Given the description of an element on the screen output the (x, y) to click on. 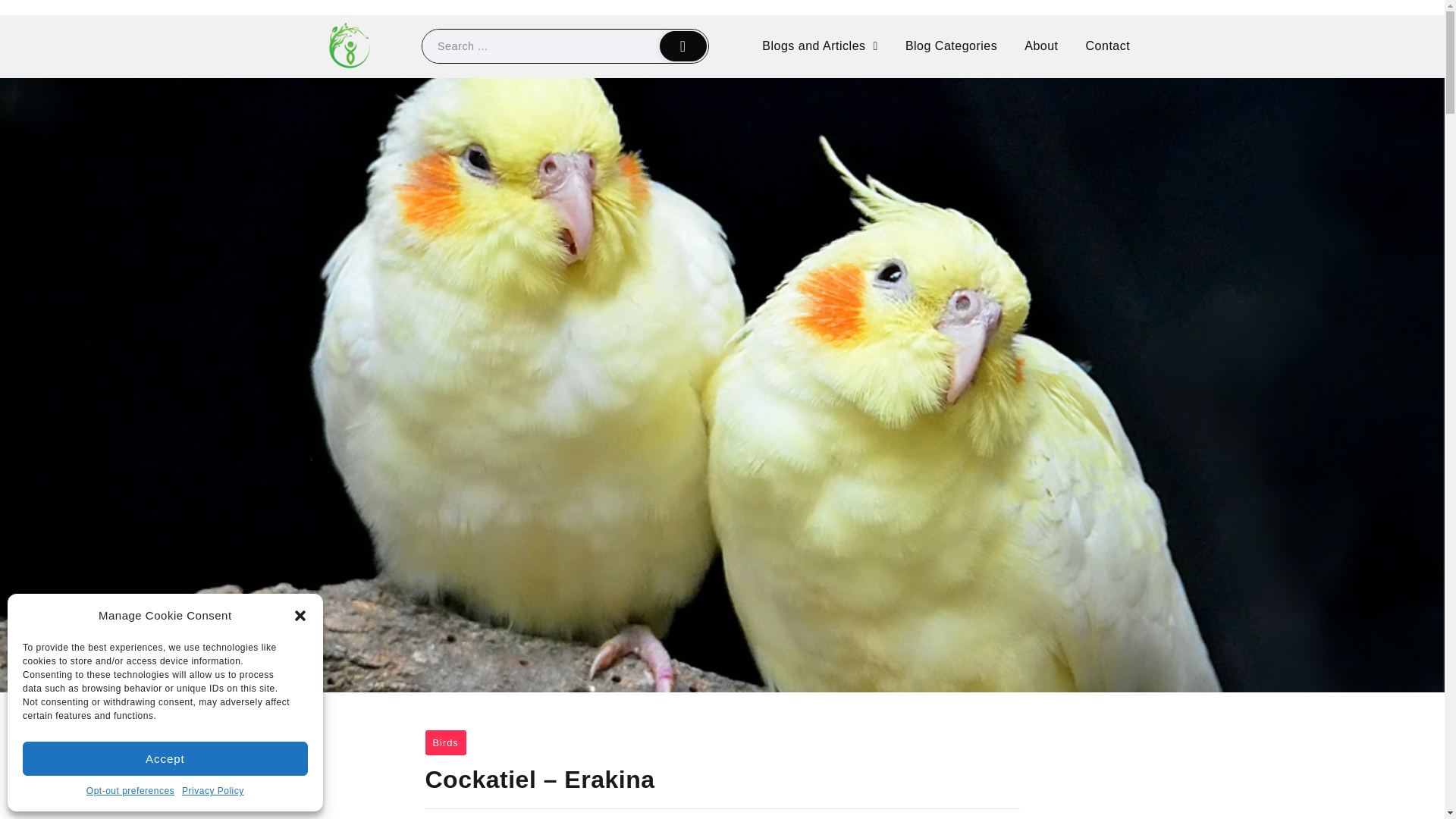
Contact (1107, 46)
Blog Categories (950, 46)
Accept (165, 758)
Birds (445, 742)
Privacy Policy (213, 791)
Birds (445, 742)
Blogs and Articles (819, 46)
Opt-out preferences (129, 791)
About (1040, 46)
